Given the description of an element on the screen output the (x, y) to click on. 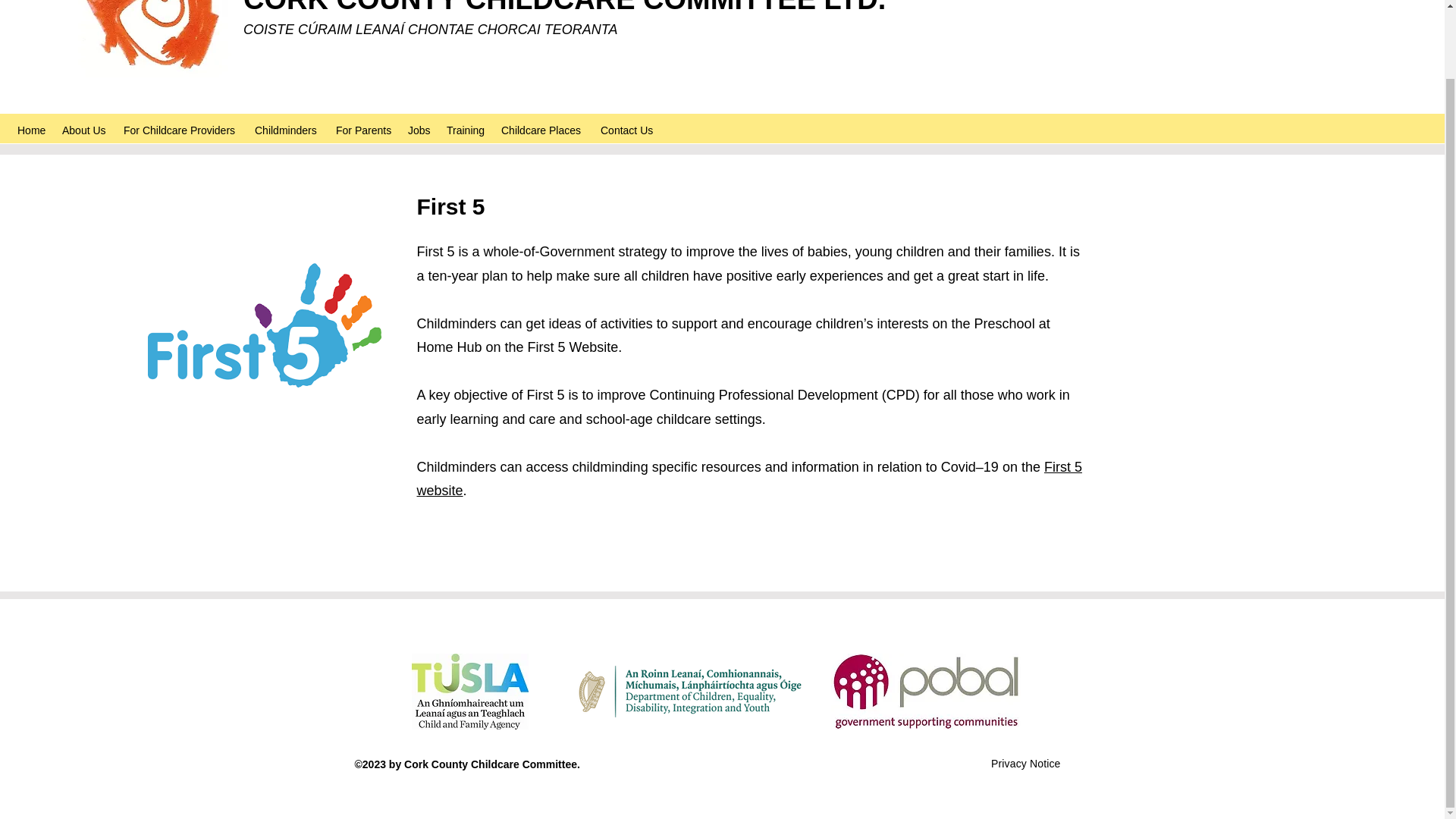
For Childcare Providers (181, 130)
First 5 website (748, 478)
For Parents (364, 130)
CORK COUNTY CHILDCARE COMMITTEE LTD. (564, 7)
Contact Us (627, 130)
Training (466, 130)
Jobs (419, 130)
Childminders (288, 130)
Privacy Notice (1025, 763)
About Us (85, 130)
